Given the description of an element on the screen output the (x, y) to click on. 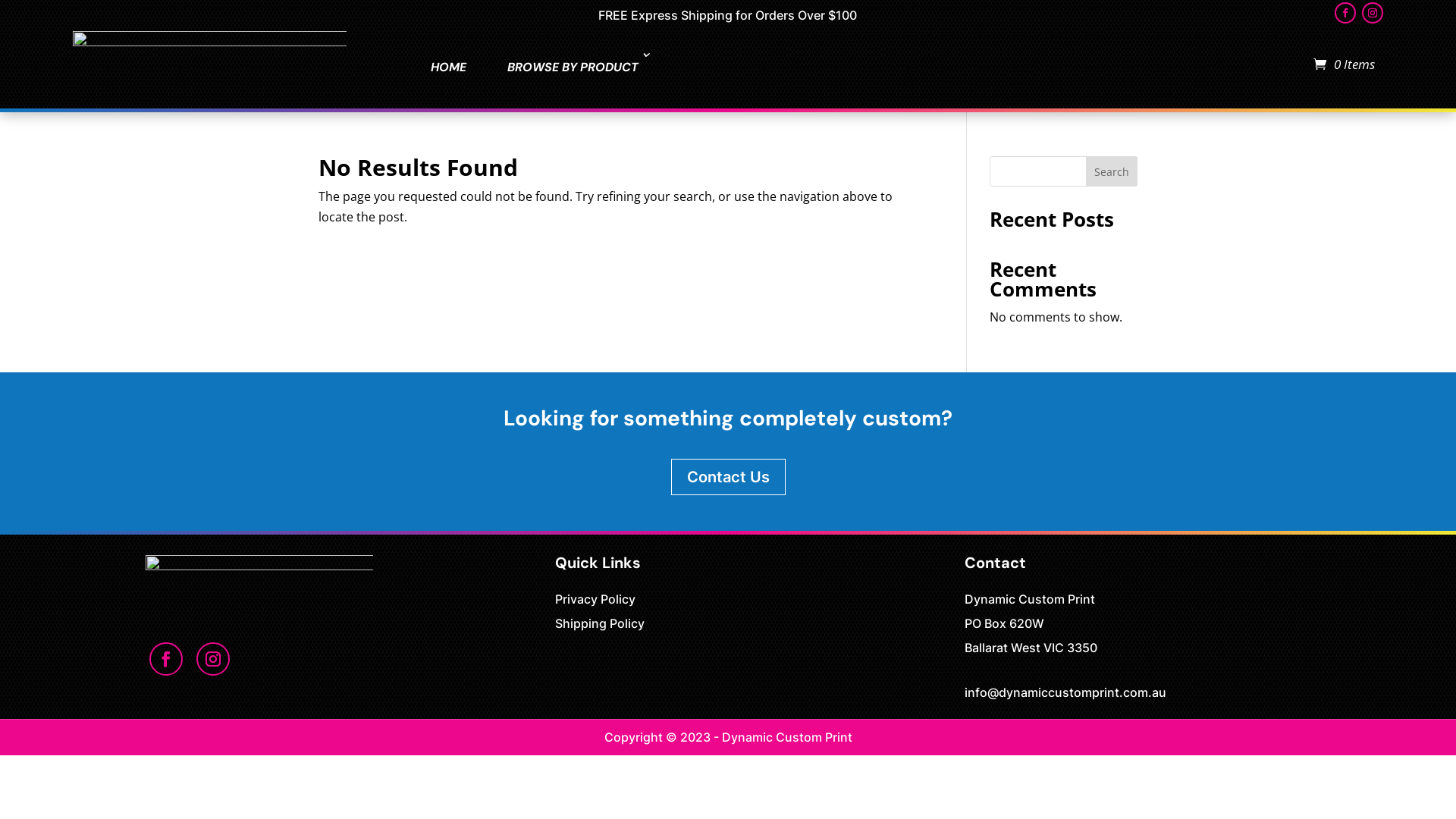
Search Element type: text (1111, 171)
Follow on Instagram Element type: hover (1372, 12)
0 Items Element type: text (1343, 64)
dynamic custom print logo 500x122 Element type: hover (259, 582)
Follow on Facebook Element type: hover (165, 658)
Privacy Policy Element type: text (595, 598)
HOME Element type: text (448, 67)
Follow on Facebook Element type: hover (1344, 12)
Contact Us Element type: text (727, 476)
Shipping Policy Element type: text (599, 622)
dynamic custom print logo 500x122 Element type: hover (209, 64)
Follow on Instagram Element type: hover (212, 658)
info@dynamiccustomprint.com.au Element type: text (1065, 691)
BROWSE BY PRODUCT Element type: text (572, 67)
